Given the description of an element on the screen output the (x, y) to click on. 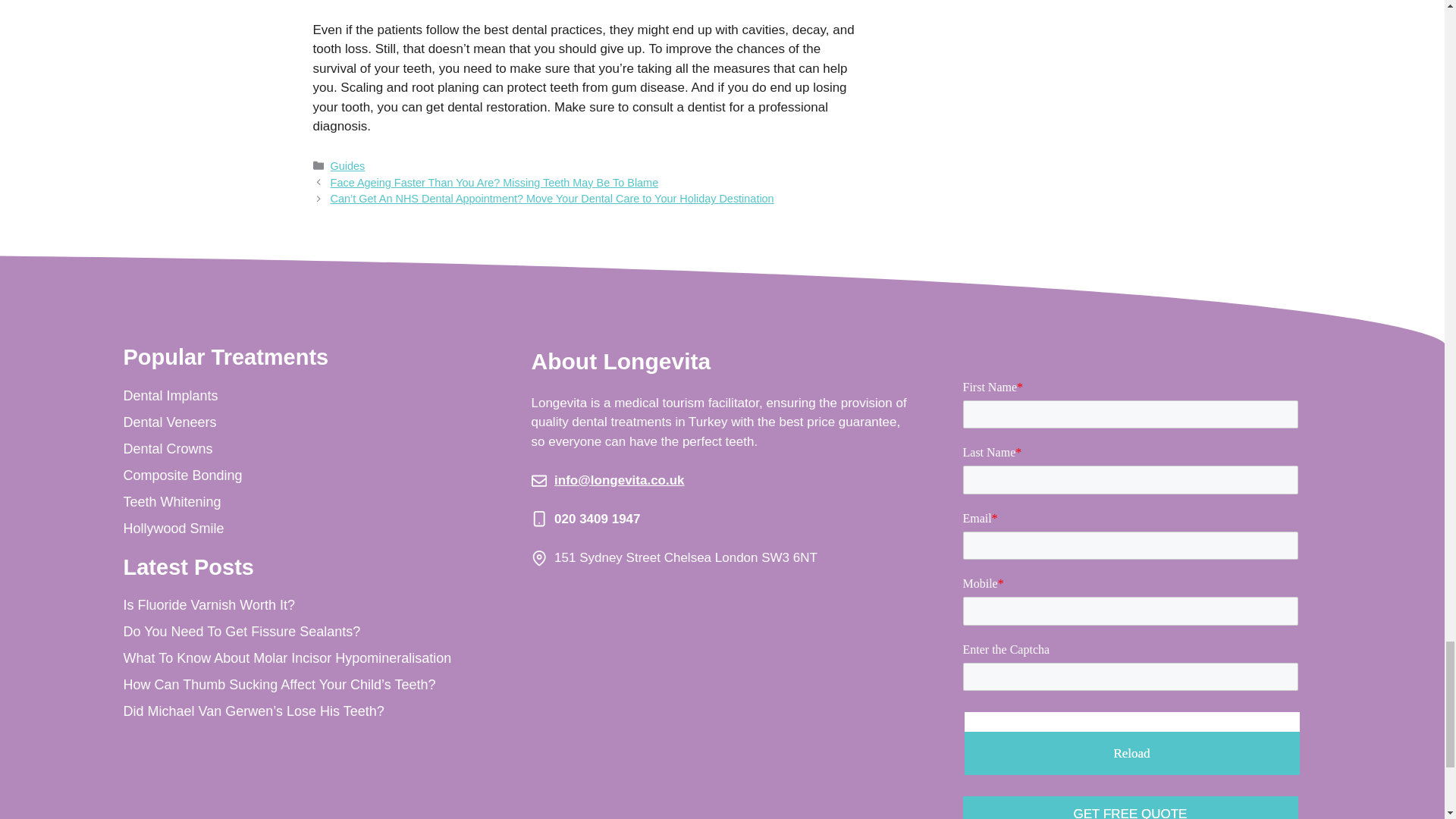
GET FREE QUOTE (1130, 807)
Submit (1130, 807)
